Given the description of an element on the screen output the (x, y) to click on. 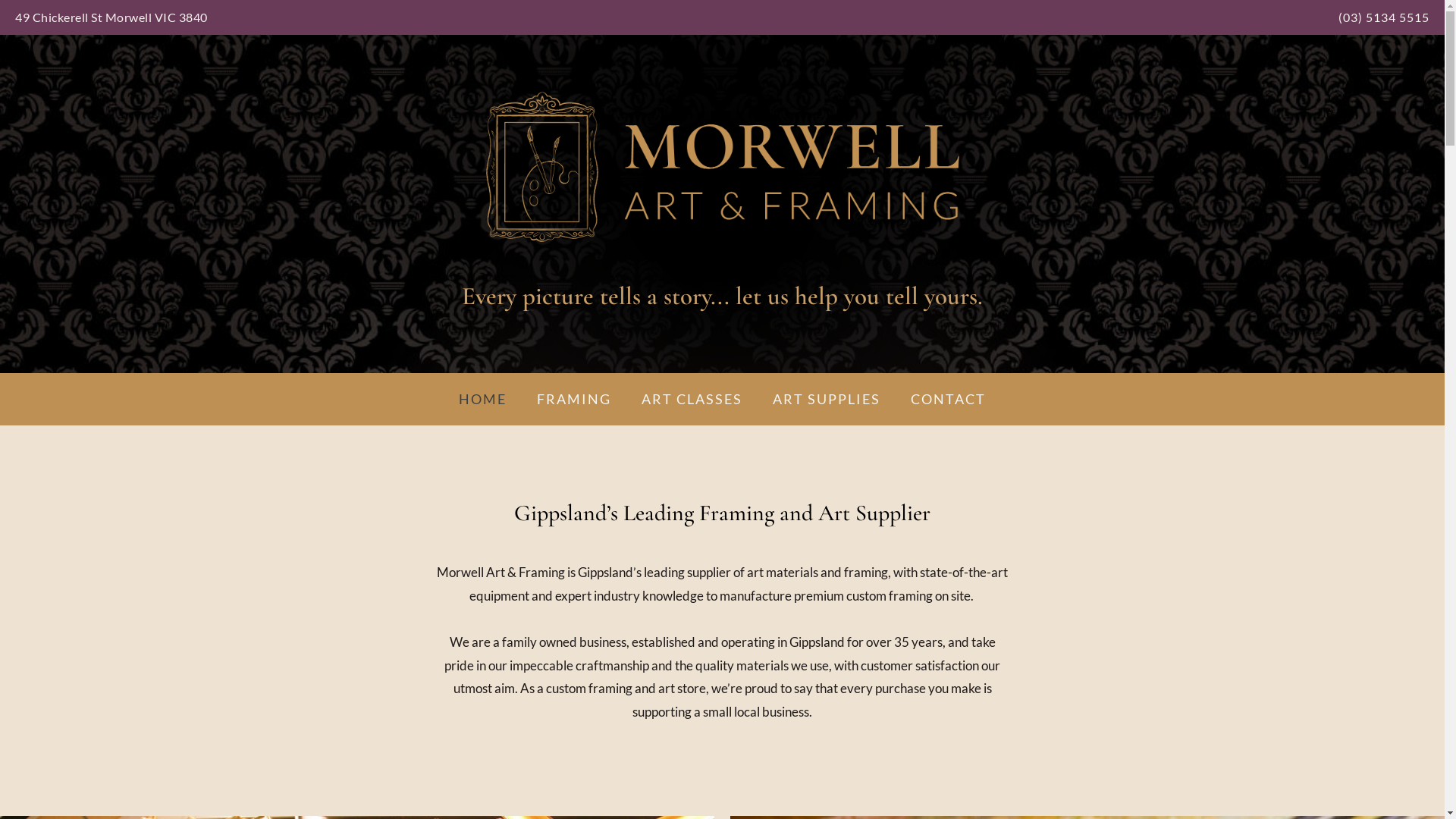
ART SUPPLIES Element type: text (826, 399)
HOME Element type: text (482, 399)
CONTACT Element type: text (948, 399)
FRAMING Element type: text (573, 399)
49 Chickerell St Morwell VIC 3840 Element type: text (111, 17)
ART CLASSES Element type: text (691, 399)
(03) 5134 5515 Element type: text (1383, 17)
